Given the description of an element on the screen output the (x, y) to click on. 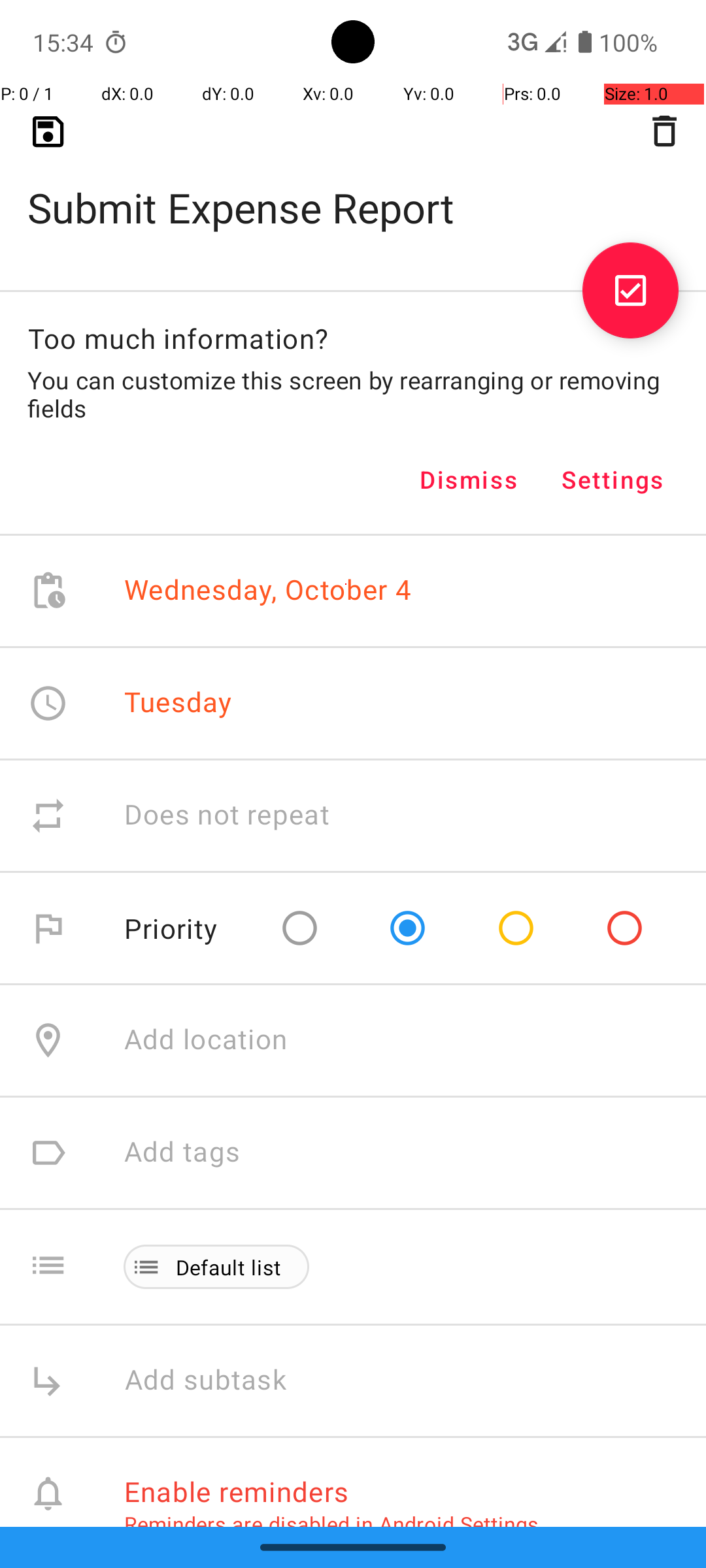
Submit Expense Report Element type: android.widget.EditText (353, 186)
Delete task Element type: android.widget.Button (664, 131)
Wednesday, October 4 Element type: android.widget.TextView (267, 590)
Add location Element type: android.widget.TextView (205, 1040)
Add tags Element type: android.widget.TextView (182, 1152)
Add subtask Element type: android.widget.TextView (219, 1380)
Enable reminders Element type: android.widget.TextView (236, 1490)
Reminders are disabled in Android Settings Element type: android.widget.TextView (331, 1523)
